Given the description of an element on the screen output the (x, y) to click on. 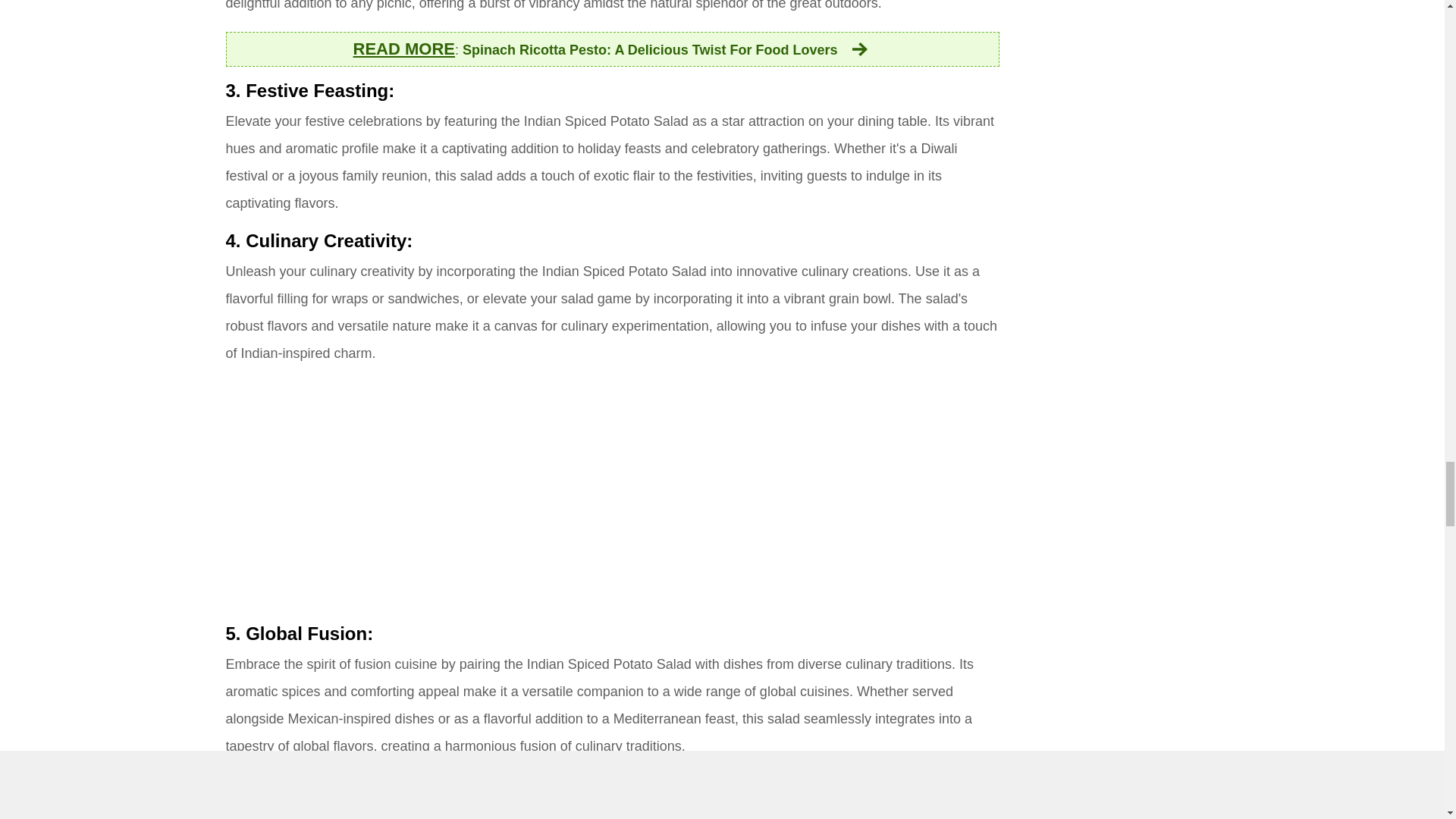
Spinach Ricotta Pesto: A Delicious Twist For Food Lovers (666, 49)
